Given the description of an element on the screen output the (x, y) to click on. 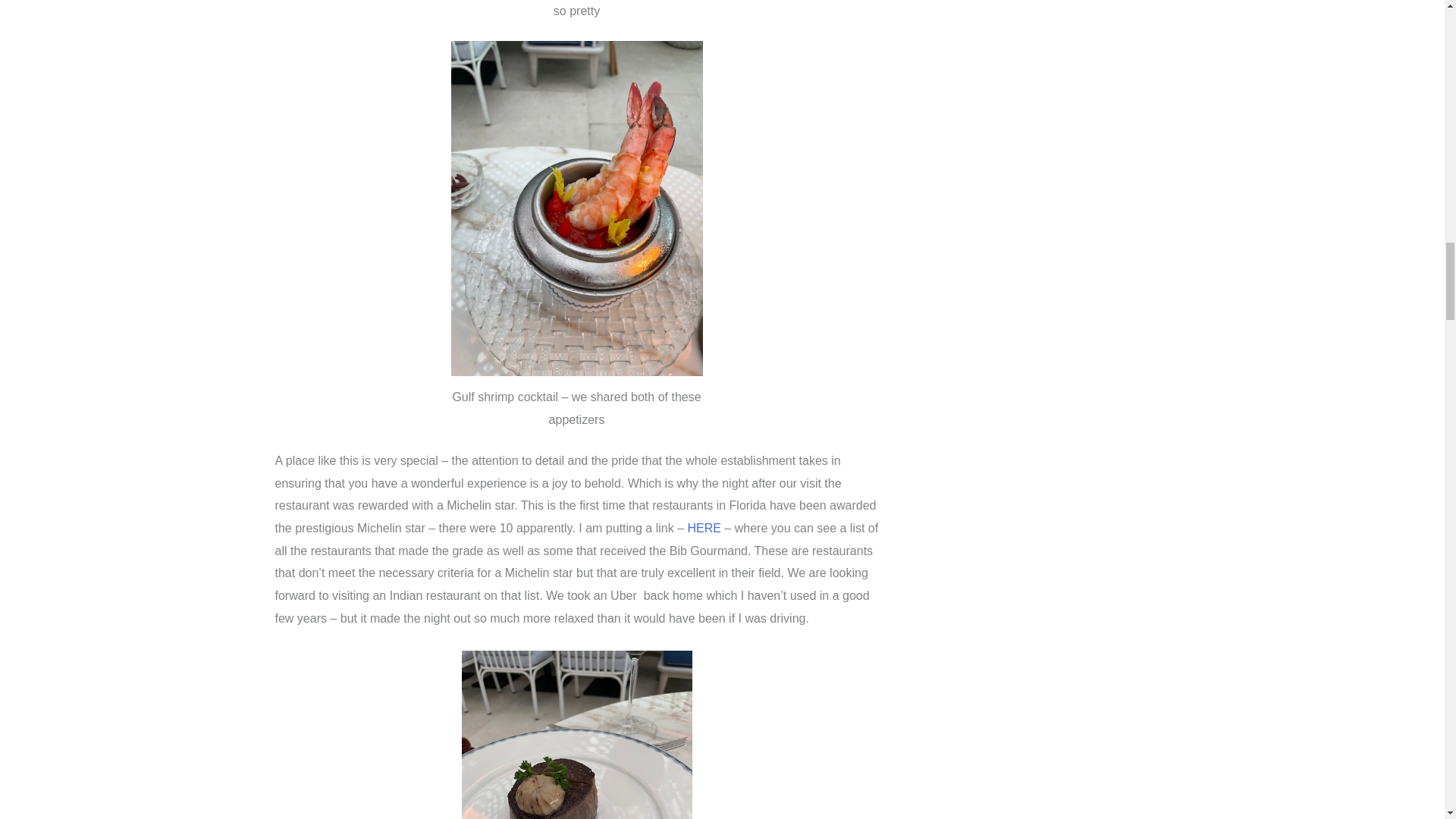
HERE (703, 527)
